Given the description of an element on the screen output the (x, y) to click on. 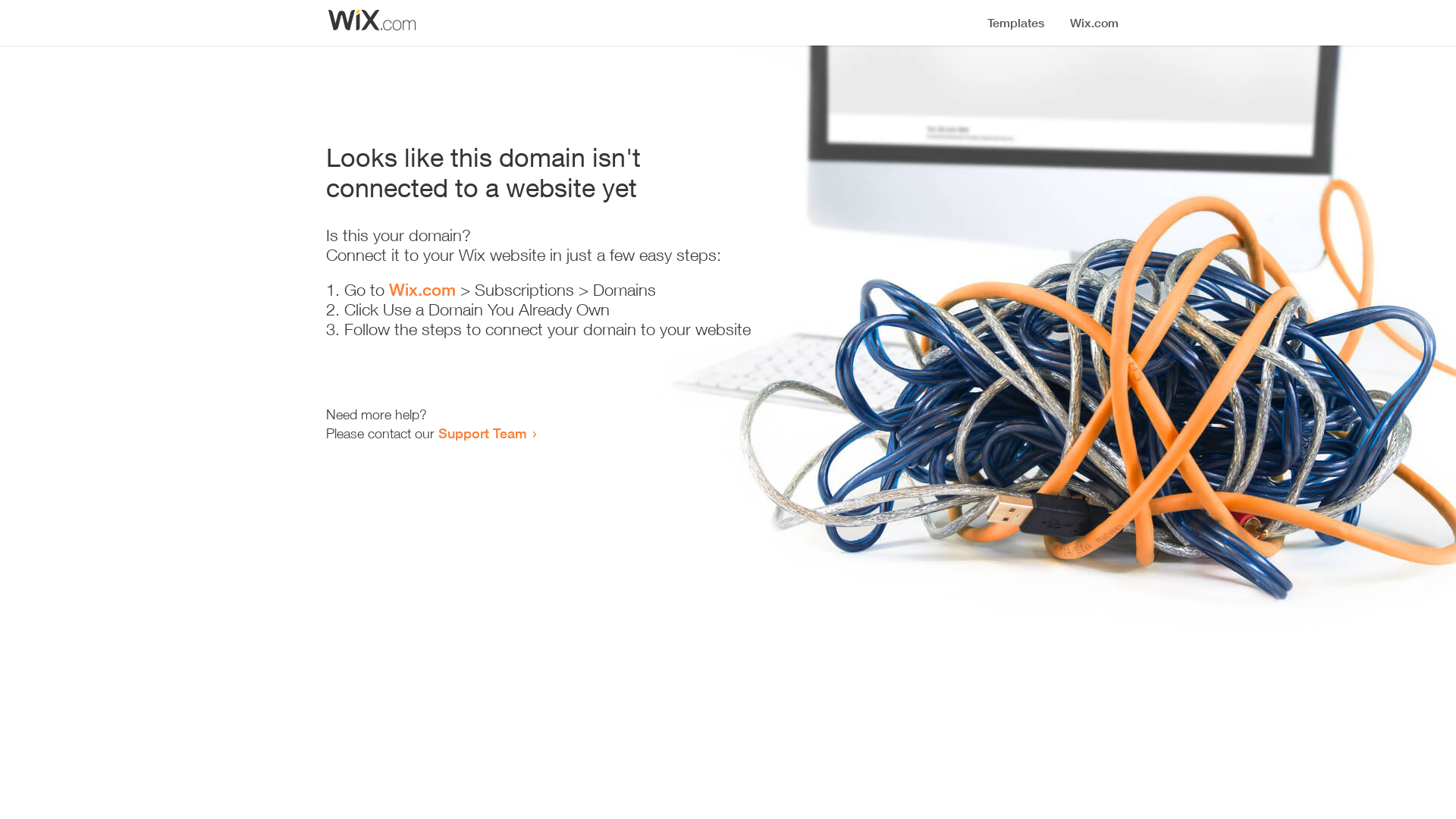
Wix.com Element type: text (422, 289)
Support Team Element type: text (482, 432)
